Given the description of an element on the screen output the (x, y) to click on. 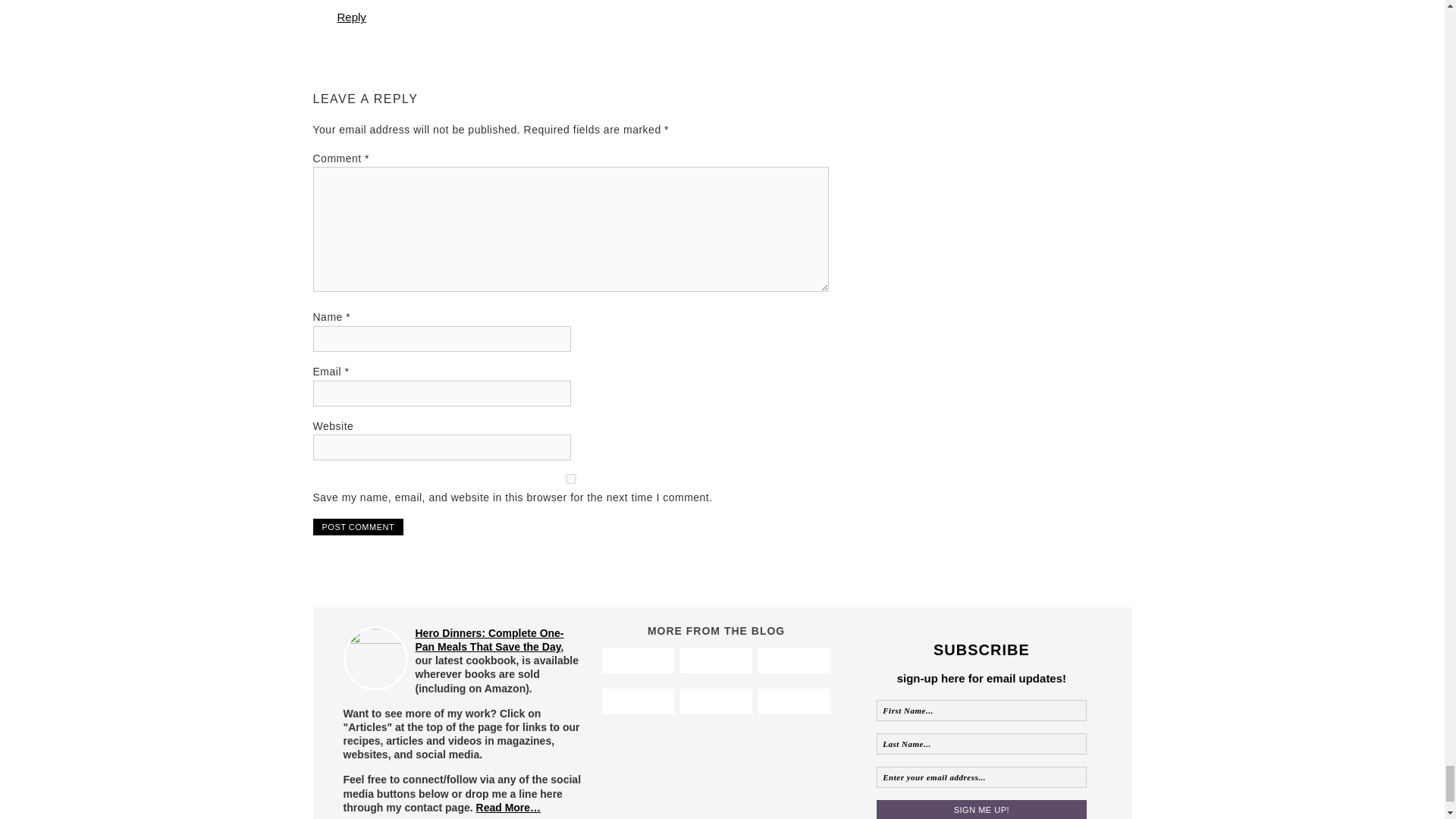
Post Comment (358, 526)
yes (570, 479)
Sign me up! (981, 809)
